Given the description of an element on the screen output the (x, y) to click on. 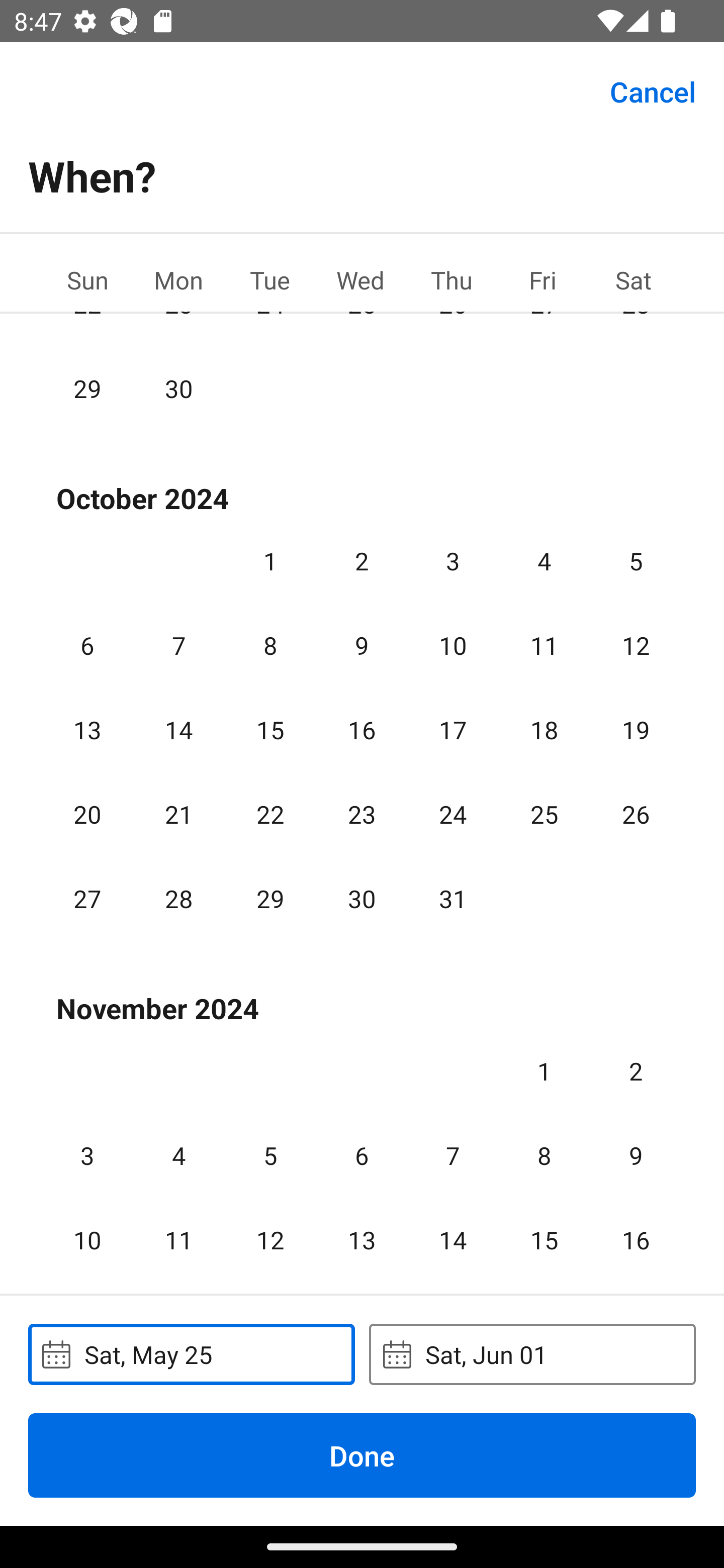
Cancel (652, 90)
Sat, May 25 (191, 1353)
Sat, Jun 01 (532, 1353)
Done (361, 1454)
